Given the description of an element on the screen output the (x, y) to click on. 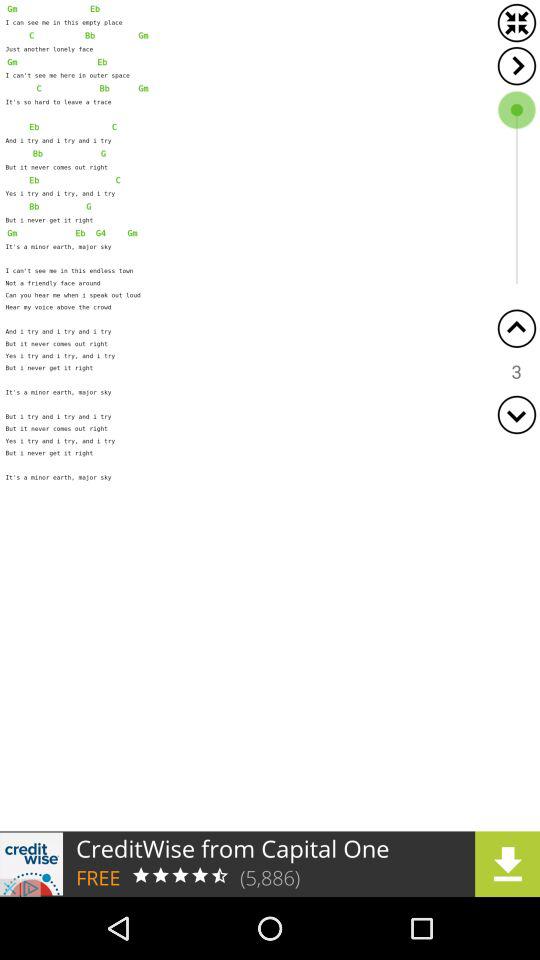
go next (516, 65)
